Given the description of an element on the screen output the (x, y) to click on. 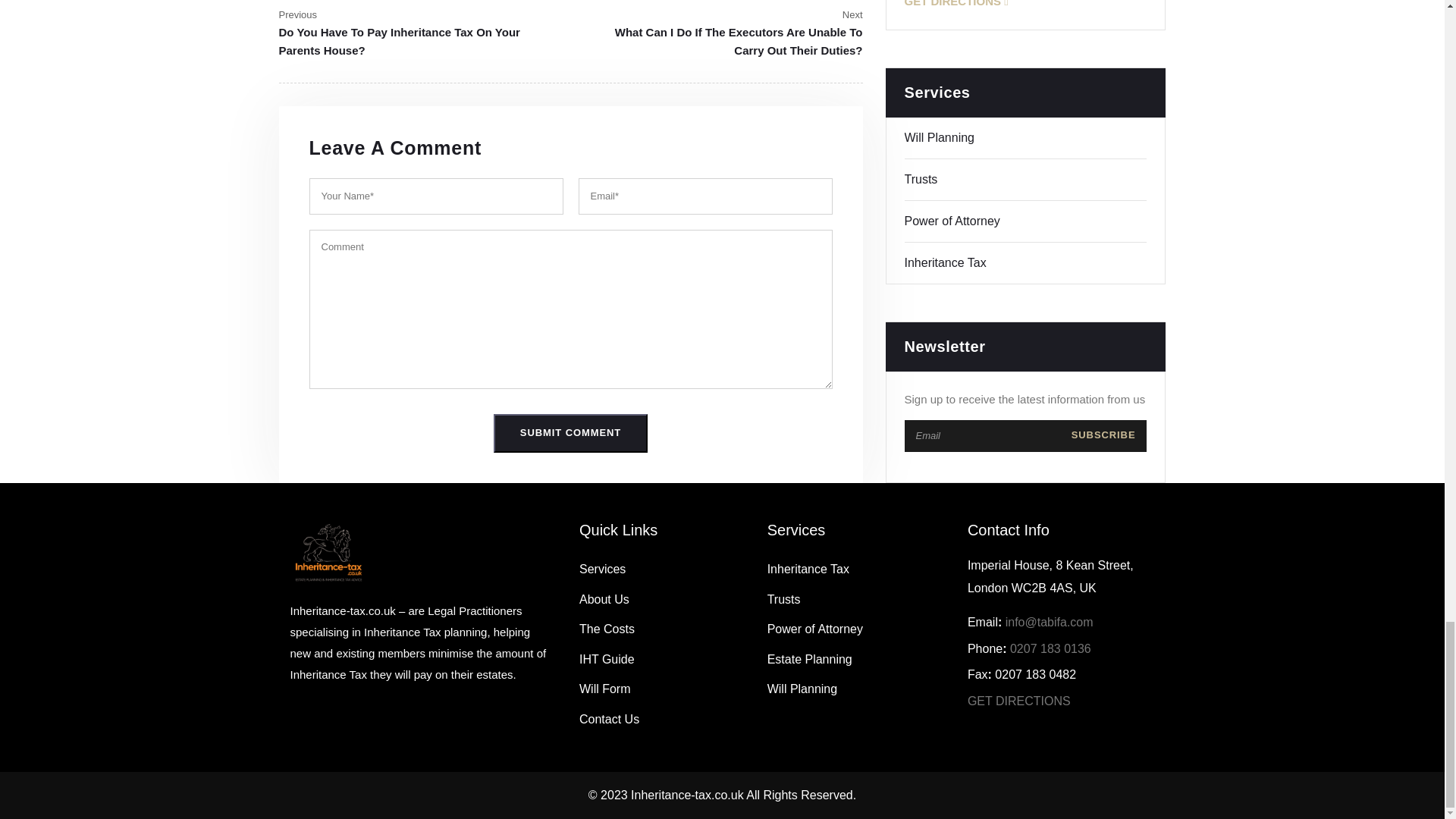
Submit Comment (570, 433)
